Given the description of an element on the screen output the (x, y) to click on. 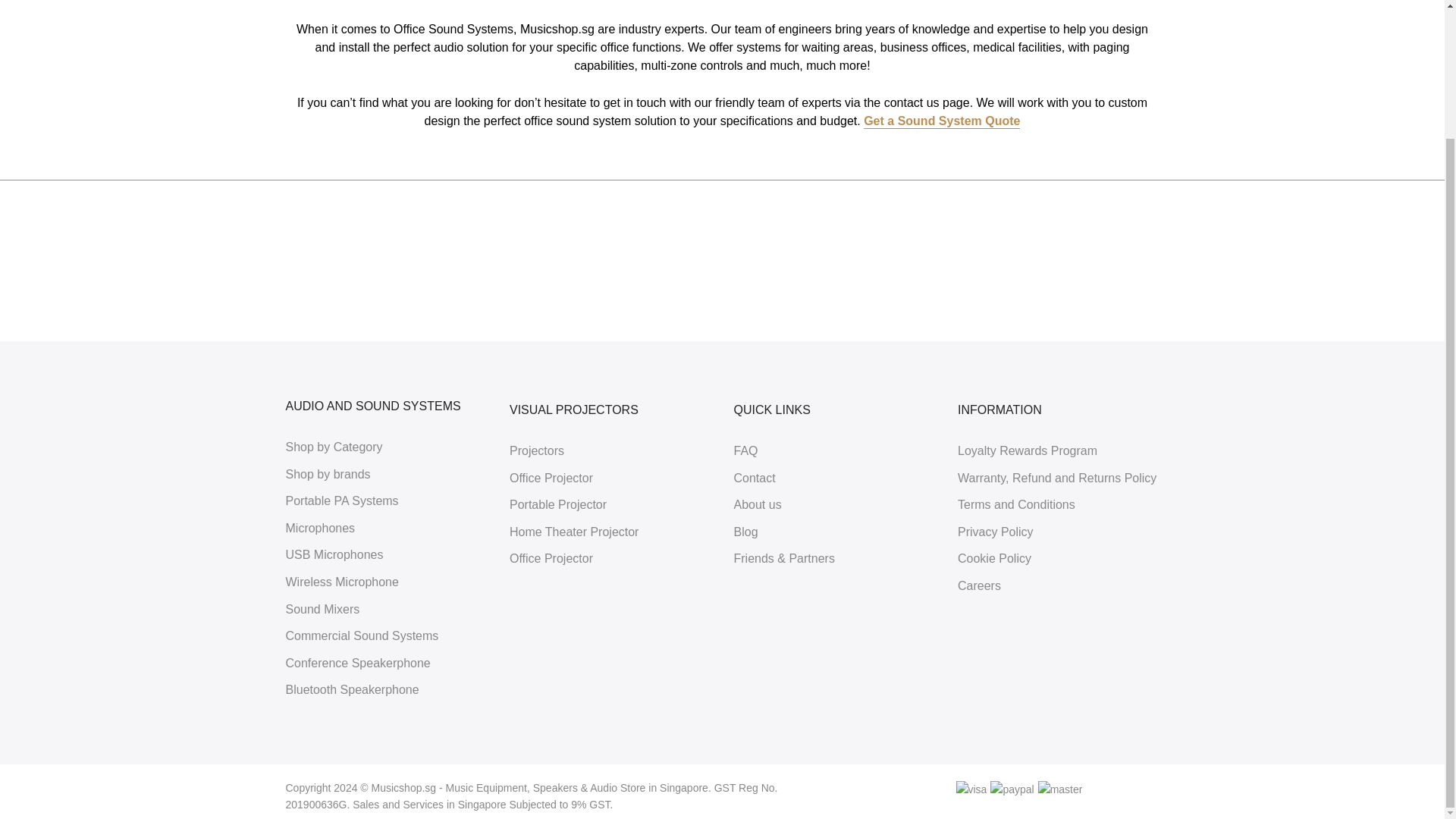
Commercial Sound Systems (361, 635)
Office Projector (550, 477)
Microphones (320, 527)
Get a Sound System Quote (941, 121)
Bluetooth Speakerphone (352, 689)
Home Theater Projector (574, 531)
Office Projector (550, 558)
Sound Mixers (322, 608)
Projectors (536, 450)
Portable PA Systems (341, 500)
